Given the description of an element on the screen output the (x, y) to click on. 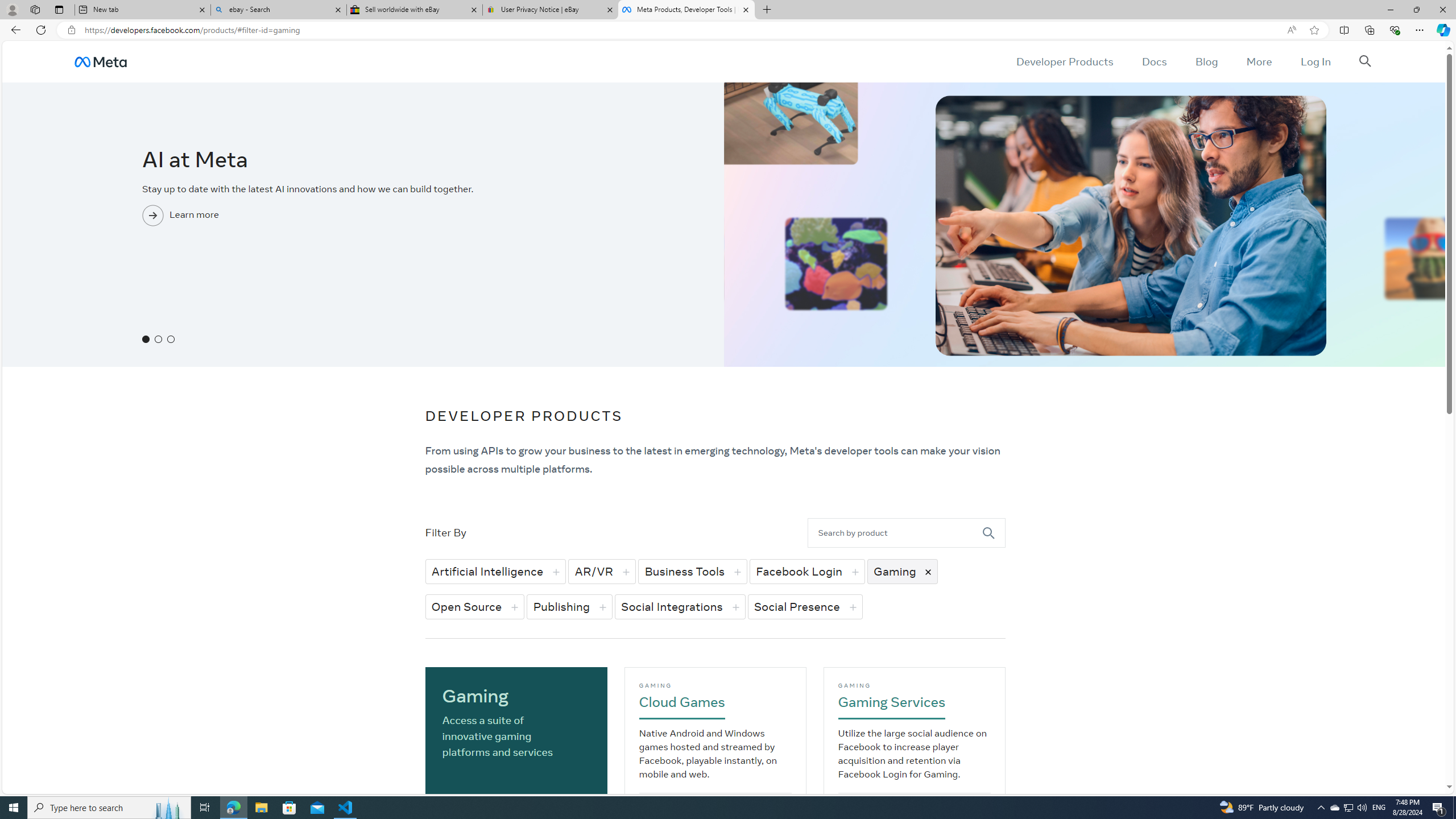
Blog (1205, 61)
Show slide 1 (145, 339)
Docs (1153, 61)
Open Source (475, 606)
Blog (1205, 61)
Docs (1153, 61)
Log In (1315, 61)
